Given the description of an element on the screen output the (x, y) to click on. 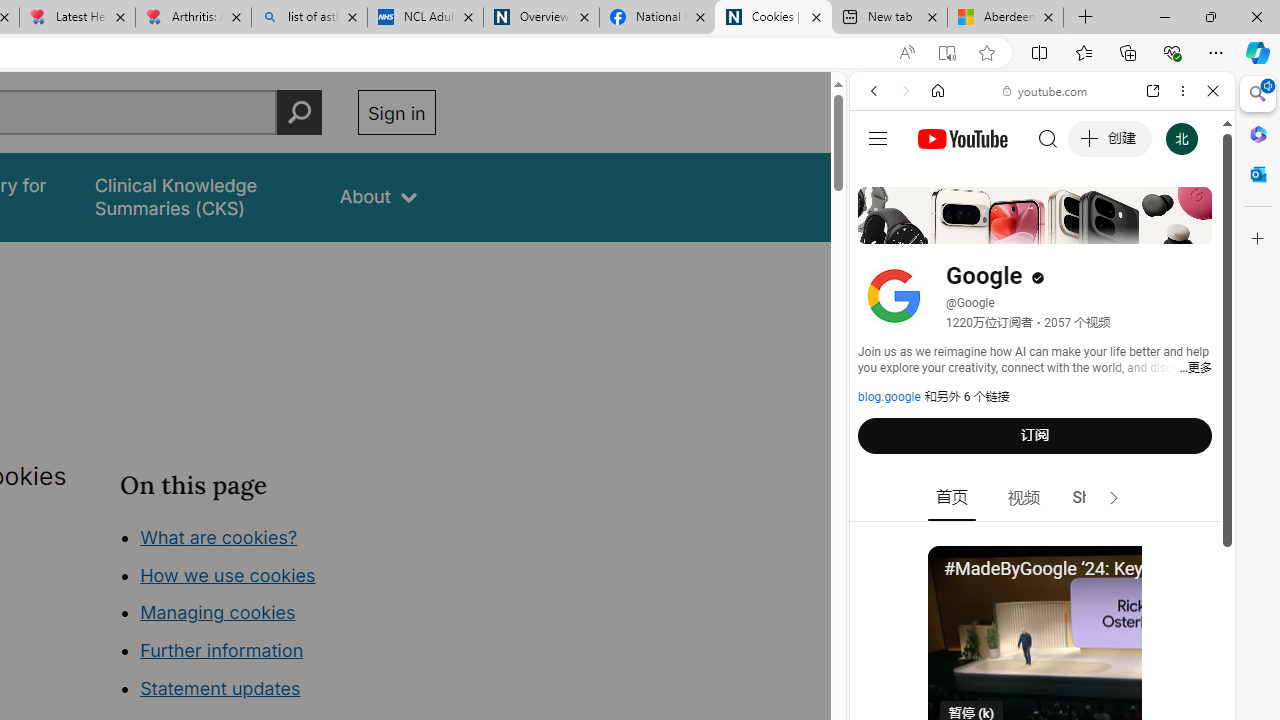
What are cookies? (218, 536)
Class: style-scope tp-yt-iron-icon (1114, 498)
